Given the description of an element on the screen output the (x, y) to click on. 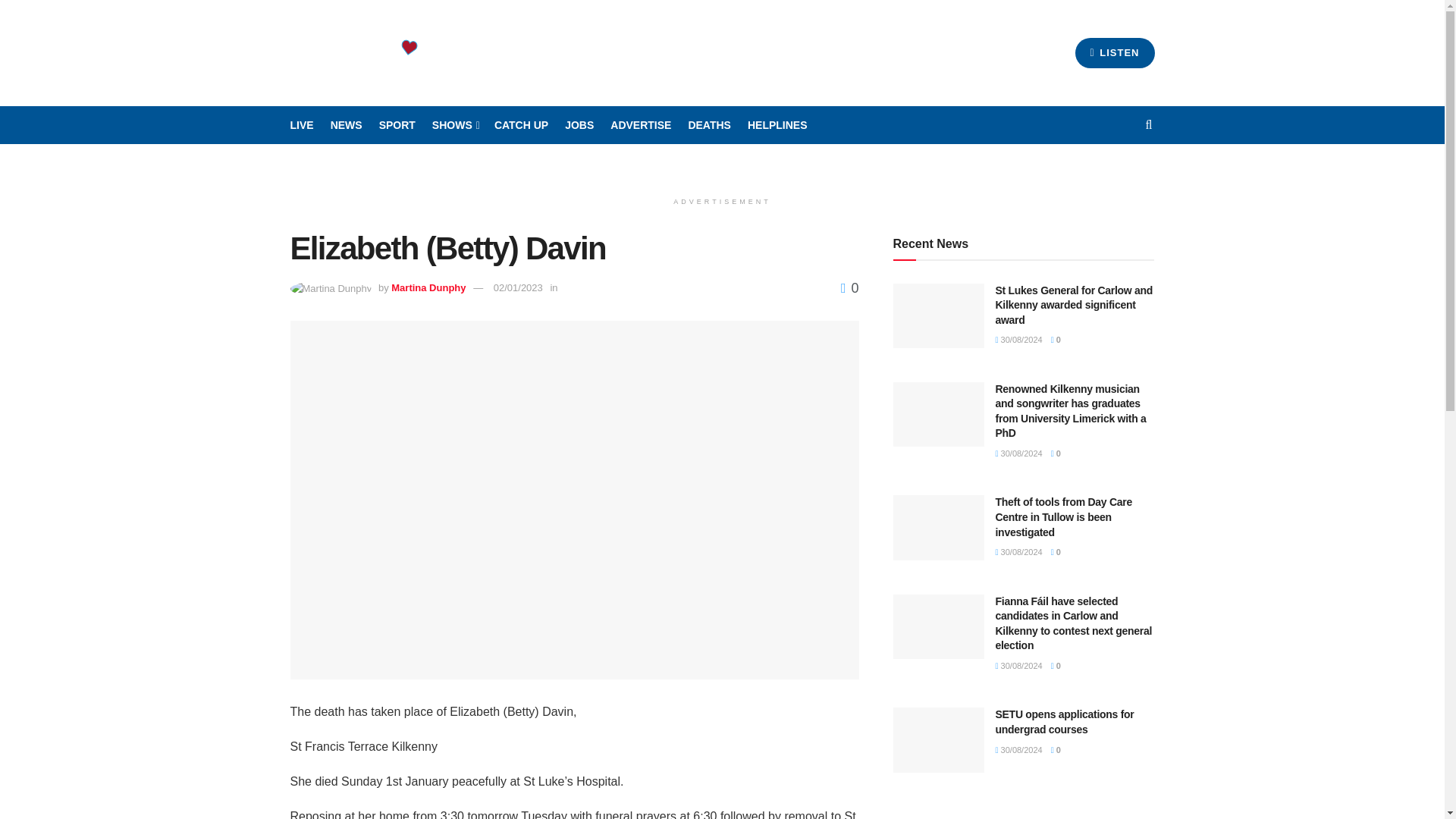
SPORT (396, 125)
SHOWS (454, 125)
HELPLINES (778, 125)
CATCH UP (521, 125)
Listen back to KCLR shows (521, 125)
LISTEN (1114, 52)
Carlow and Kilkenny Death Notices (708, 125)
DEATHS (708, 125)
ADVERTISE (640, 125)
KCLR Sport on Scoreline.ie (396, 125)
